Given the description of an element on the screen output the (x, y) to click on. 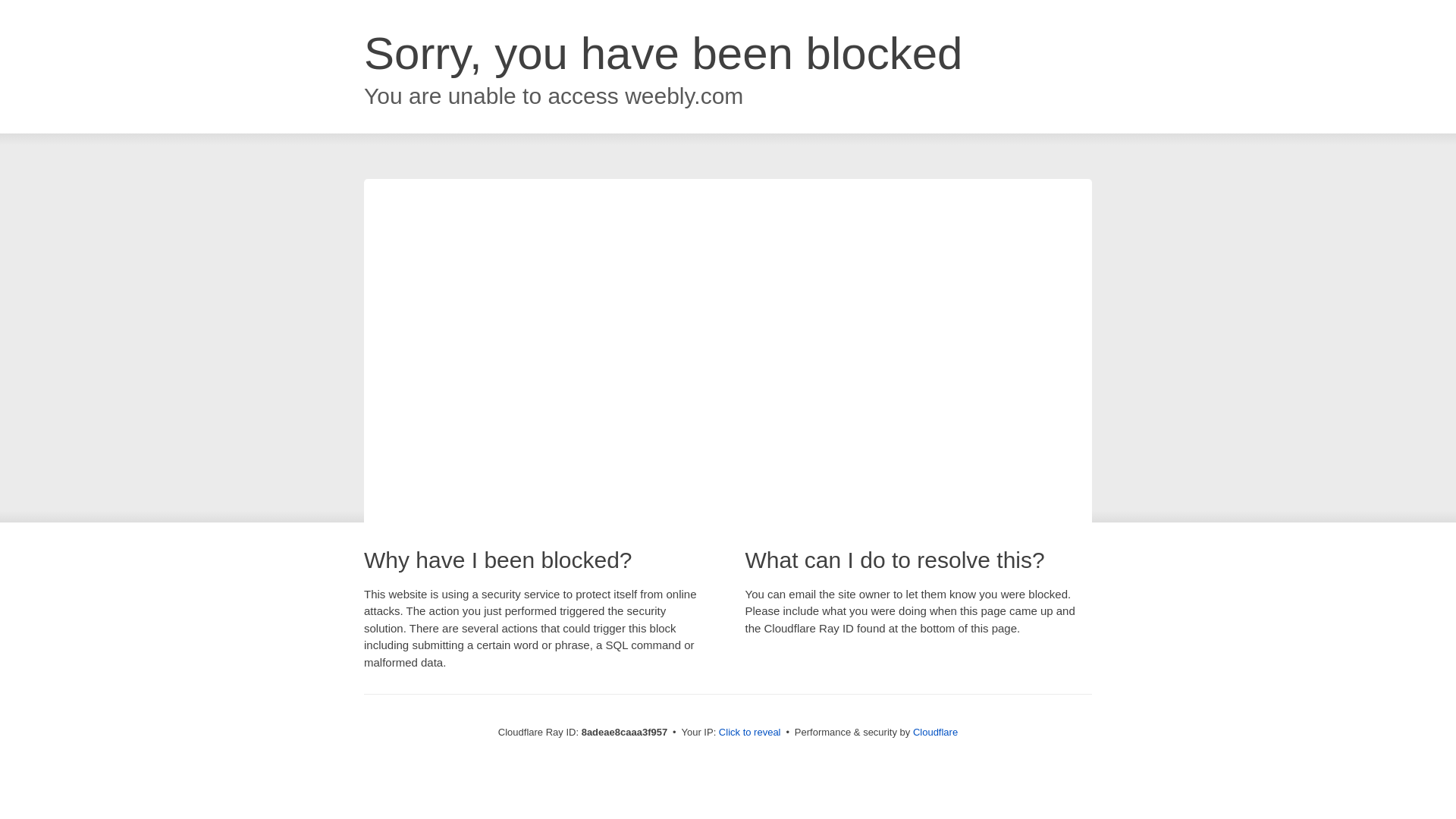
Click to reveal (749, 732)
Cloudflare (935, 731)
